Given the description of an element on the screen output the (x, y) to click on. 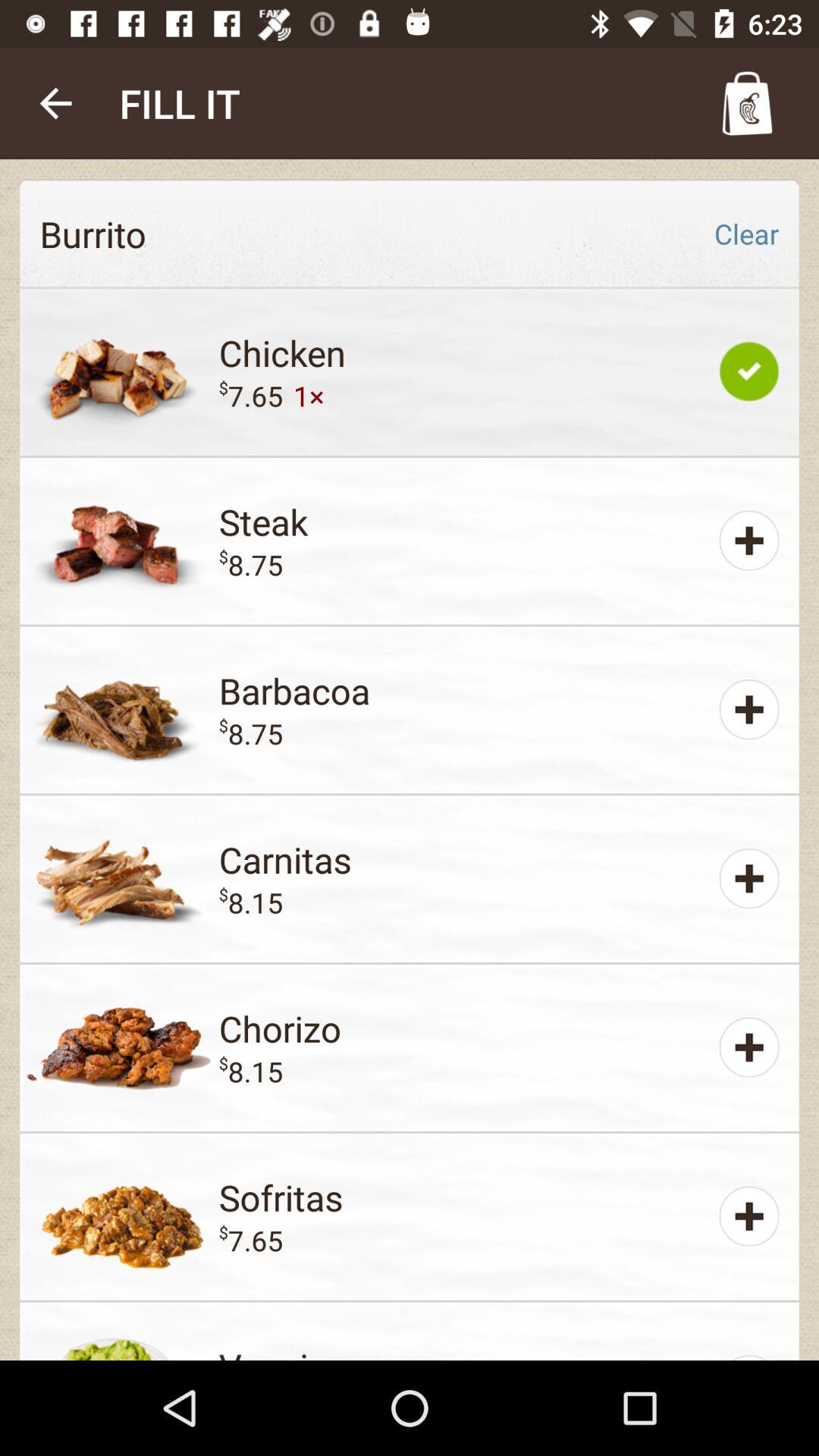
click the item to the right of the burrito (746, 233)
